Given the description of an element on the screen output the (x, y) to click on. 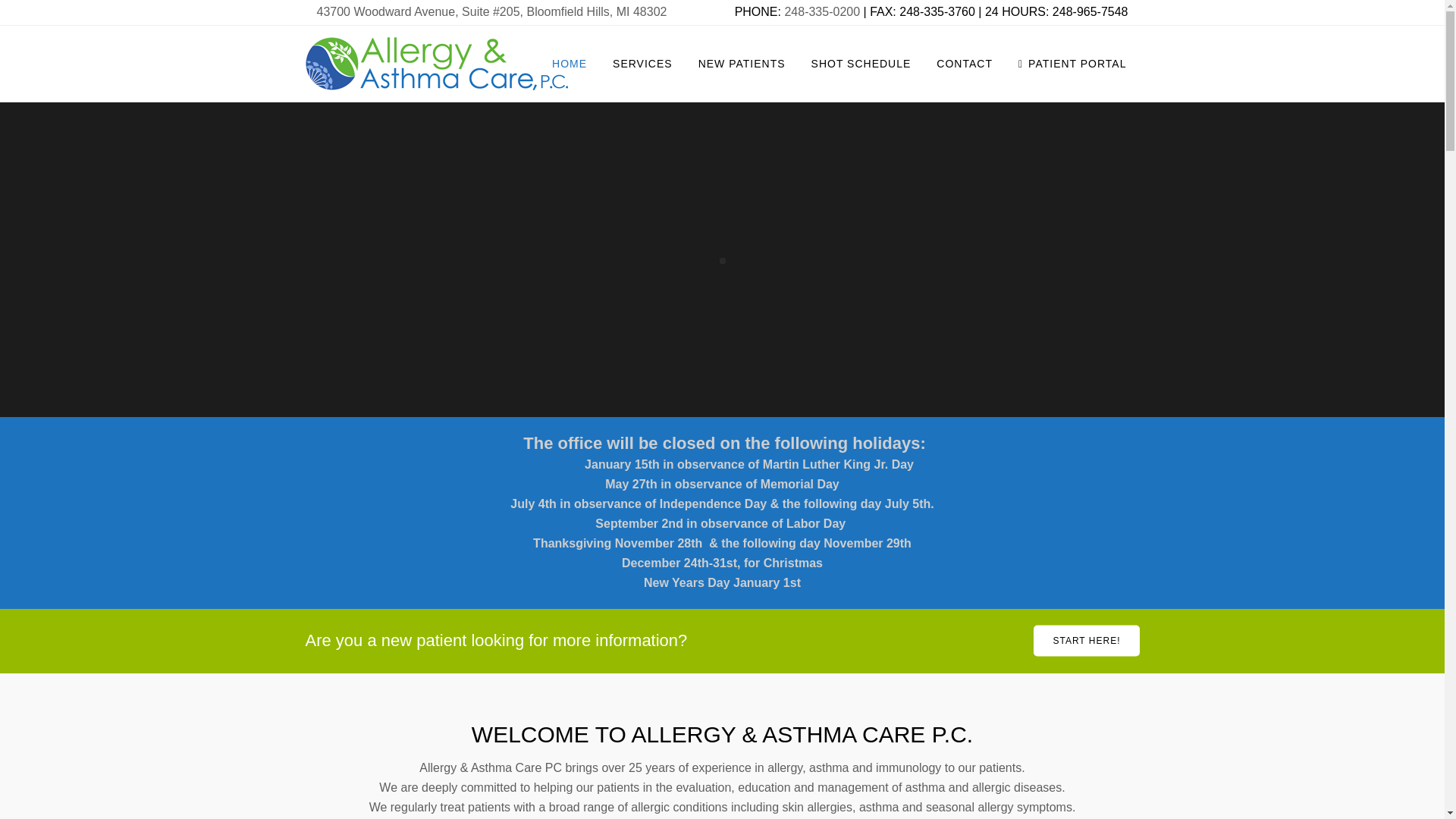
NEW PATIENTS (741, 63)
248-335-0200 (822, 11)
START HERE! (1085, 640)
PATIENT PORTAL (1073, 63)
SERVICES (642, 63)
CONTACT (964, 63)
SHOT SCHEDULE (860, 63)
